Given the description of an element on the screen output the (x, y) to click on. 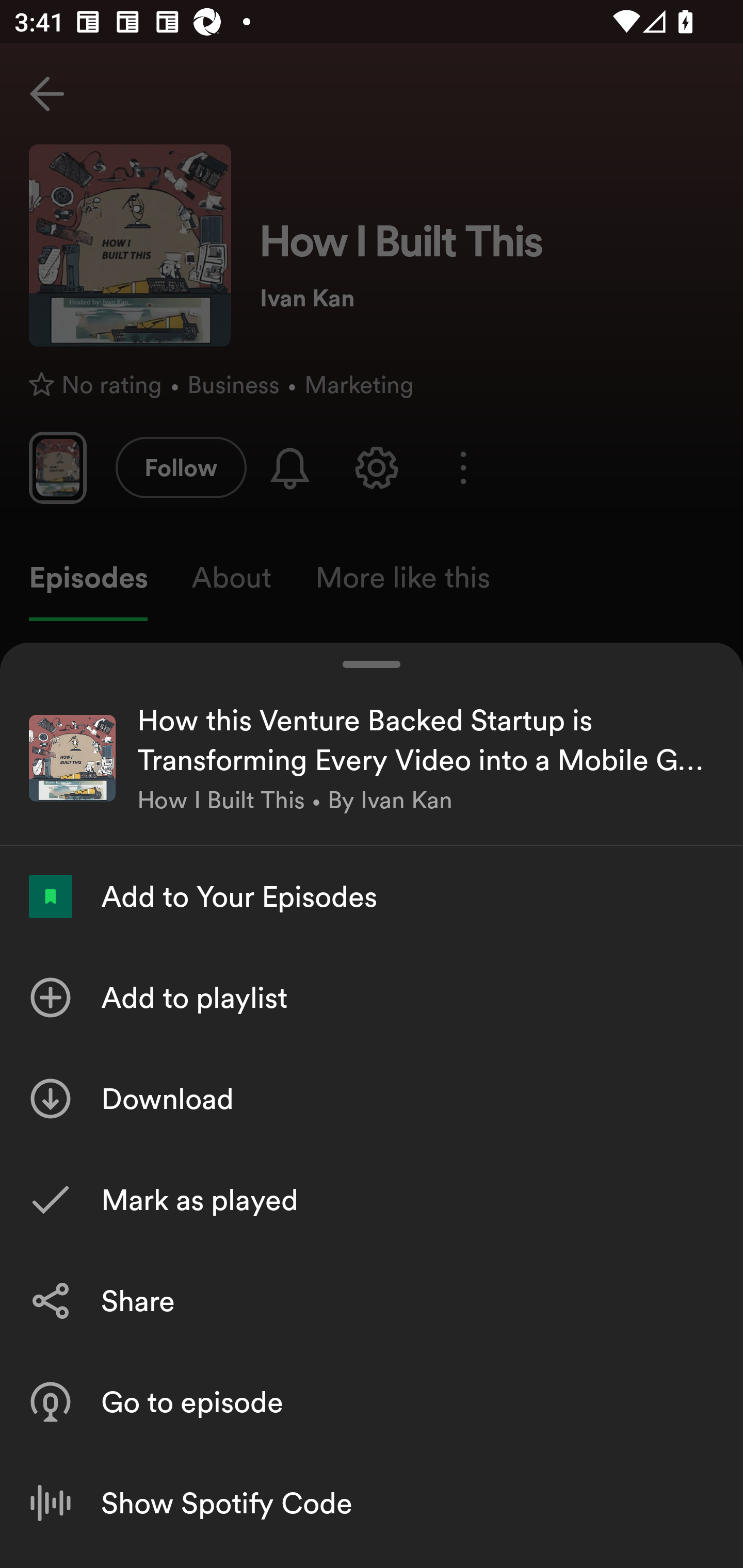
Add to Your Episodes (371, 896)
Add to playlist (371, 997)
Download (371, 1098)
Mark as played (371, 1199)
Share (371, 1300)
Go to episode (371, 1401)
Show Spotify Code (371, 1502)
